Given the description of an element on the screen output the (x, y) to click on. 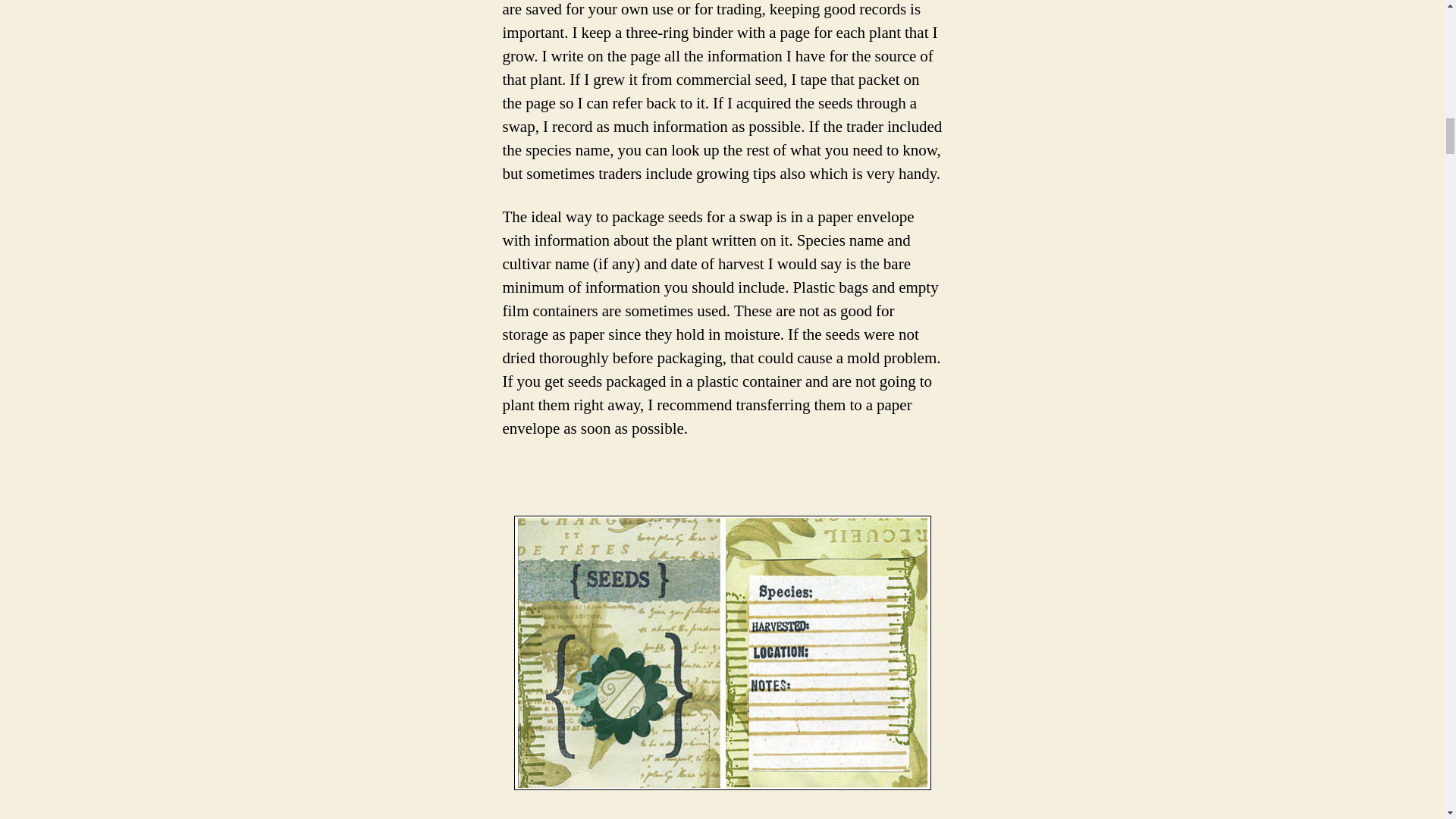
decorated seed packets (722, 652)
